Given the description of an element on the screen output the (x, y) to click on. 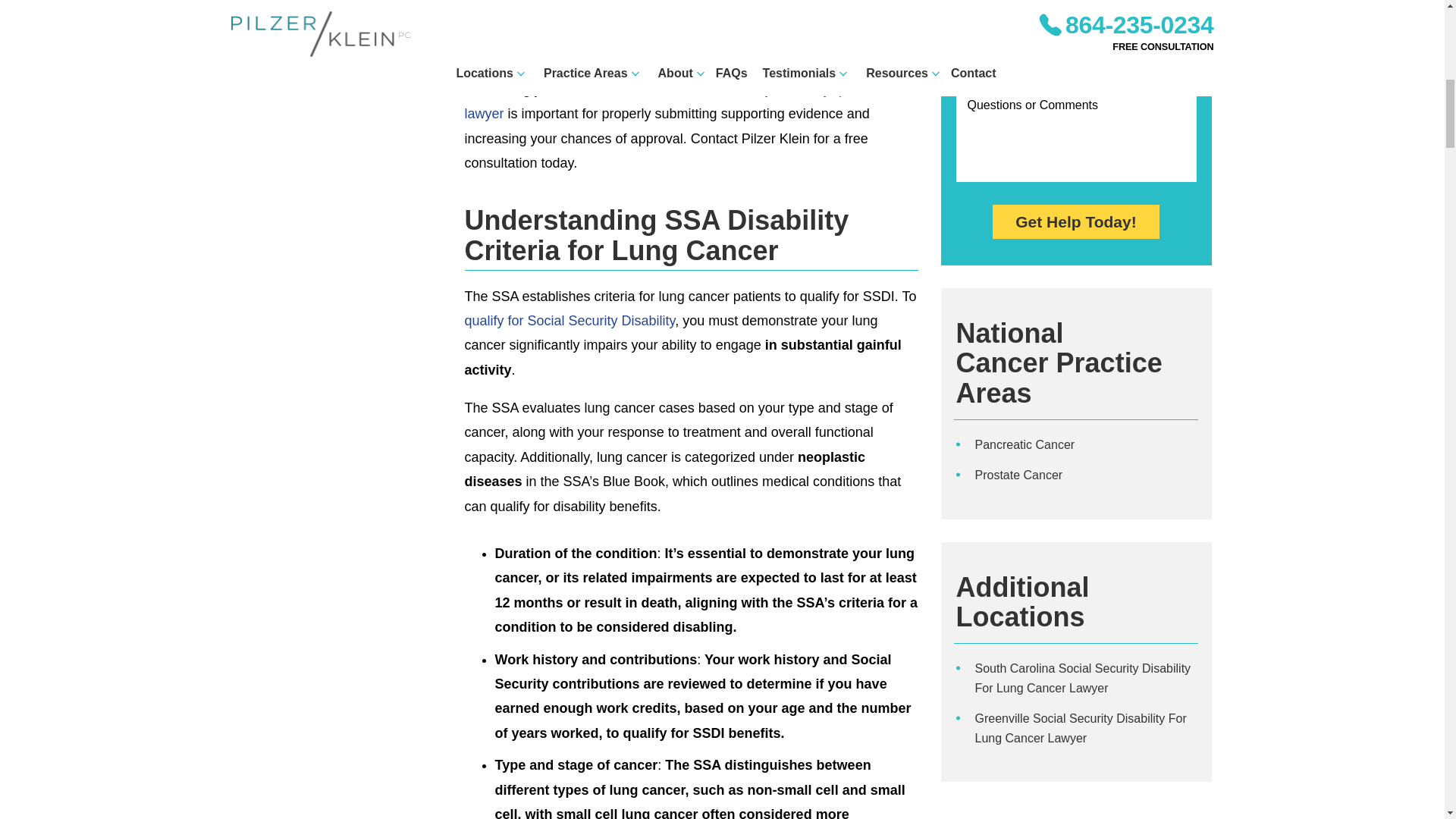
Kevin Klein (260, 27)
Get Help Today! (1075, 221)
